Given the description of an element on the screen output the (x, y) to click on. 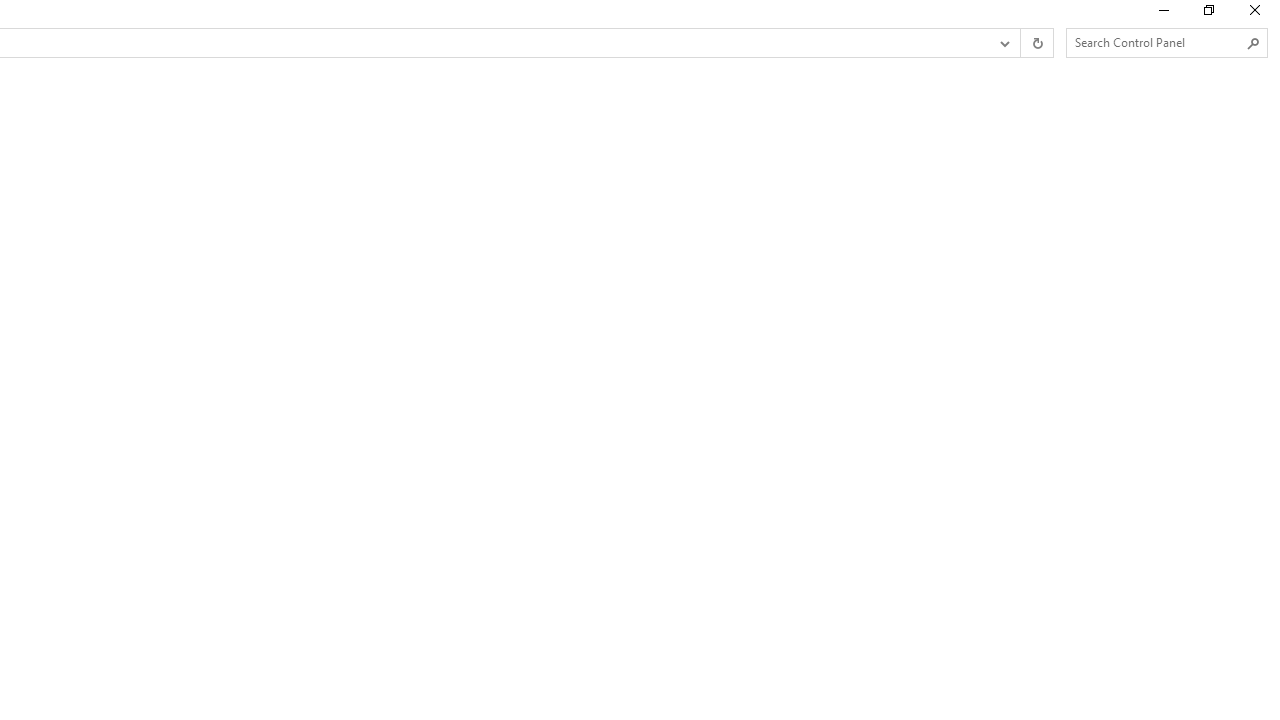
Search Box (1156, 42)
Search (1253, 43)
Restore (1208, 14)
Address band toolbar (1019, 43)
Minimize (1162, 14)
Refresh "Network and Internet" (F5) (1036, 43)
Previous Locations (1003, 43)
